Given the description of an element on the screen output the (x, y) to click on. 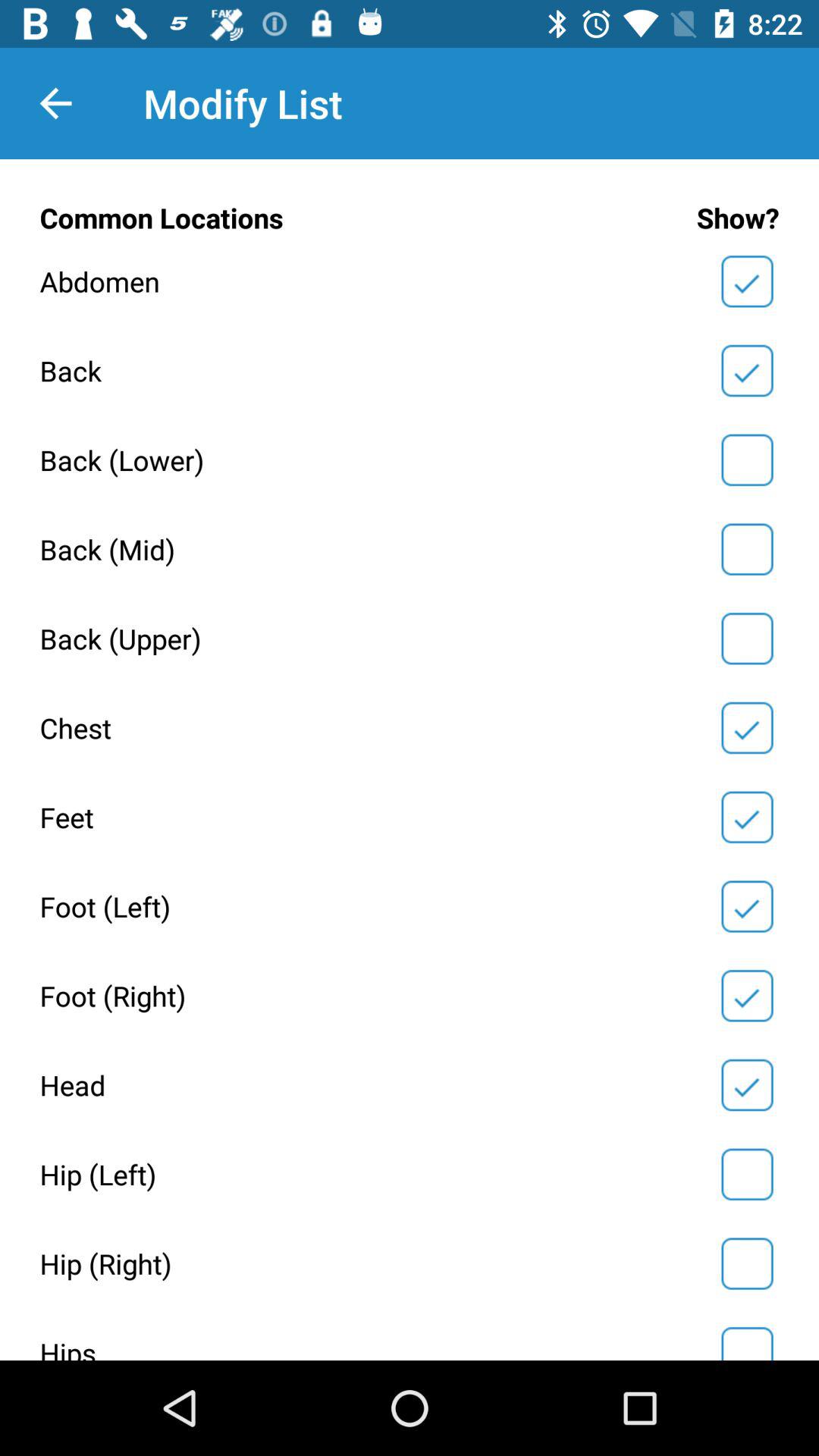
toggle to allow modifications to the abdomen (747, 281)
